Given the description of an element on the screen output the (x, y) to click on. 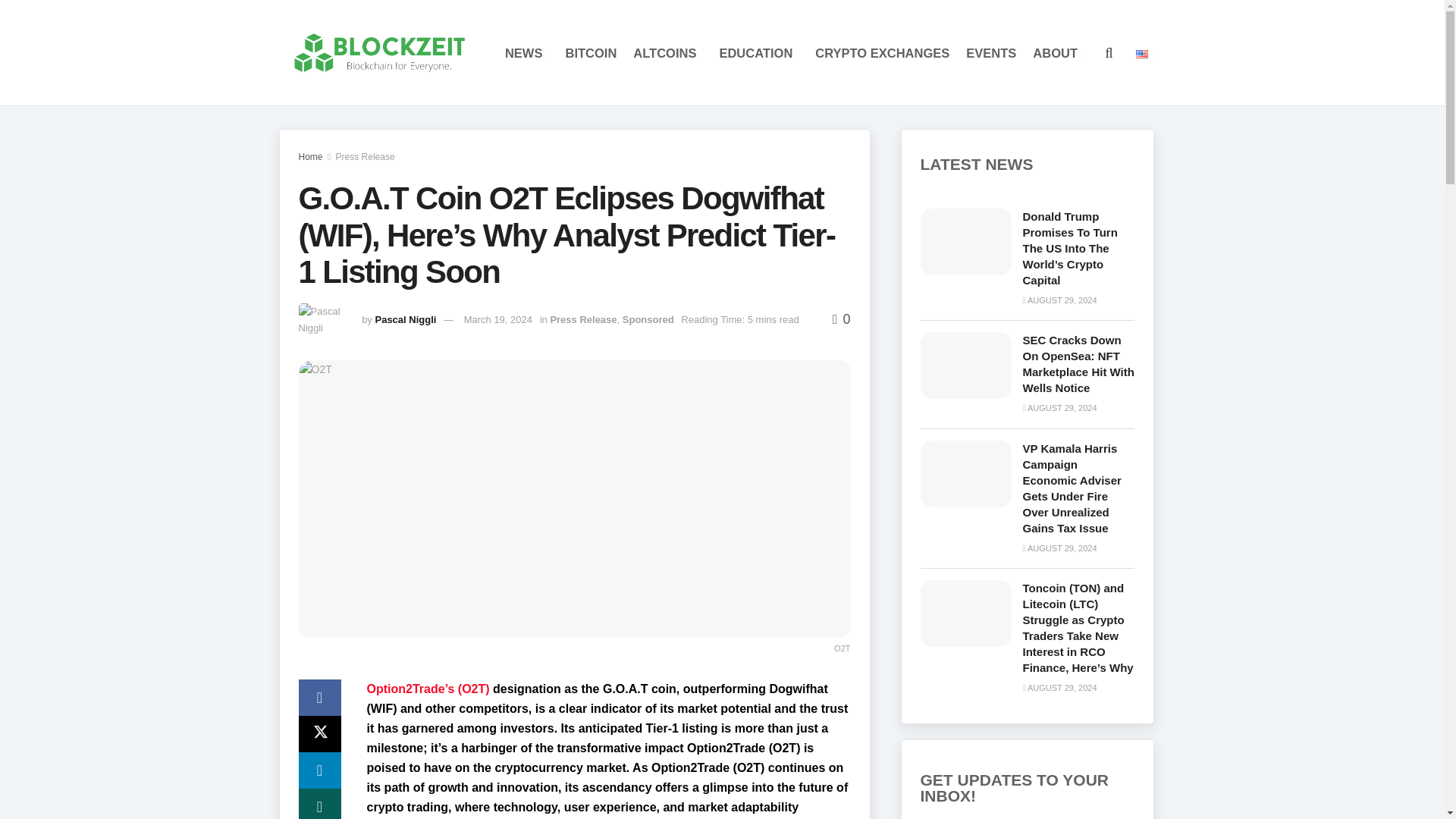
EVENTS (991, 52)
ALTCOINS (667, 52)
ABOUT (1057, 52)
BITCOIN (589, 52)
EDUCATION (758, 52)
CRYPTO EXCHANGES (882, 52)
NEWS (526, 52)
